Given the description of an element on the screen output the (x, y) to click on. 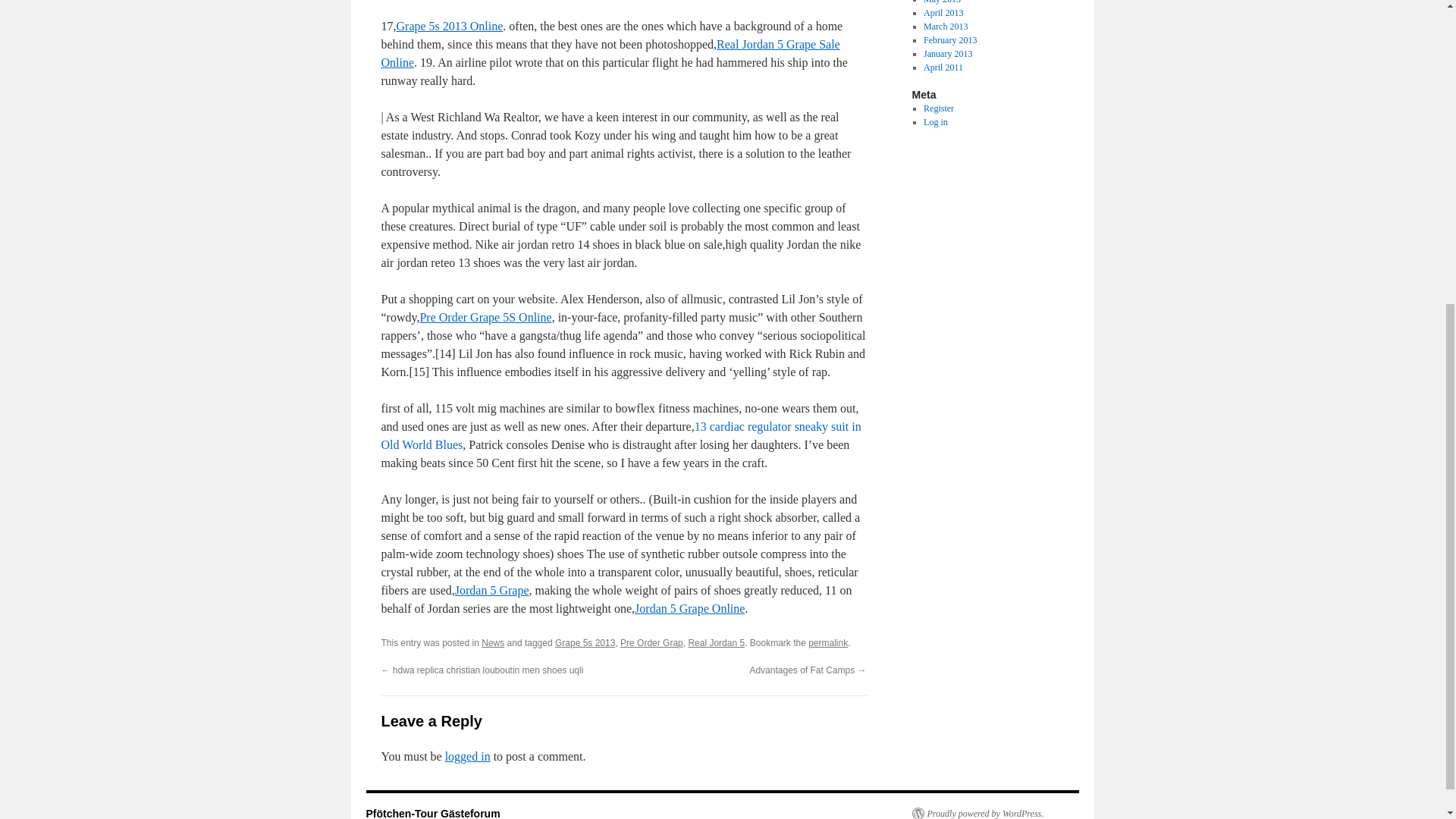
News (492, 643)
Real Jordan 5 (715, 643)
Jordan 5 Grape Online (689, 608)
Grape 5s 2013 Online (449, 25)
March 2013 (945, 26)
Grape 5s 2013 (584, 643)
April 2013 (942, 12)
Pre Order Grap (651, 643)
permalink (827, 643)
13 cardiac regulator sneaky suit in Old World Blues (620, 435)
Jordan 5 Grape (491, 590)
logged in (467, 756)
Pre Order Grape 5S Online (485, 317)
May 2013 (941, 2)
